Given the description of an element on the screen output the (x, y) to click on. 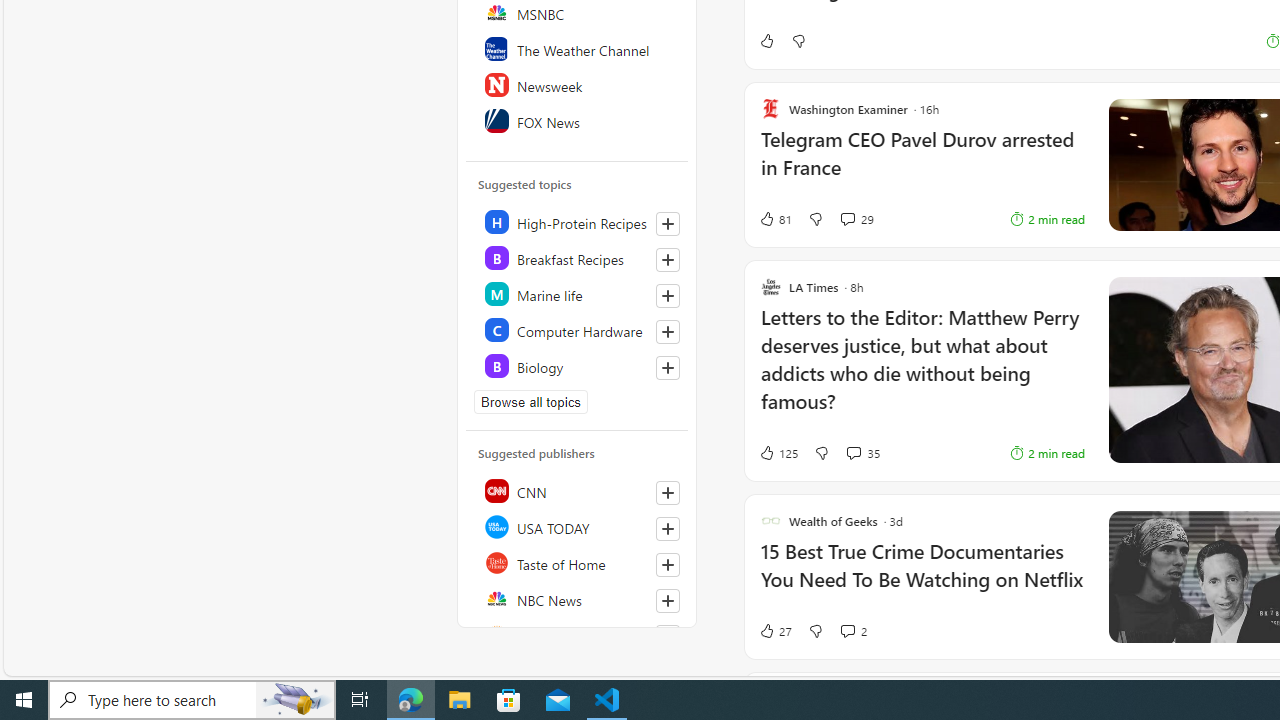
Taste of Home (578, 562)
View comments 29 Comment (847, 218)
View comments 35 Comment (862, 452)
View comments 2 Comment (852, 630)
Newsweek (578, 84)
125 Like (778, 452)
81 Like (775, 219)
The Weather Channel (578, 48)
27 Like (775, 630)
